Given the description of an element on the screen output the (x, y) to click on. 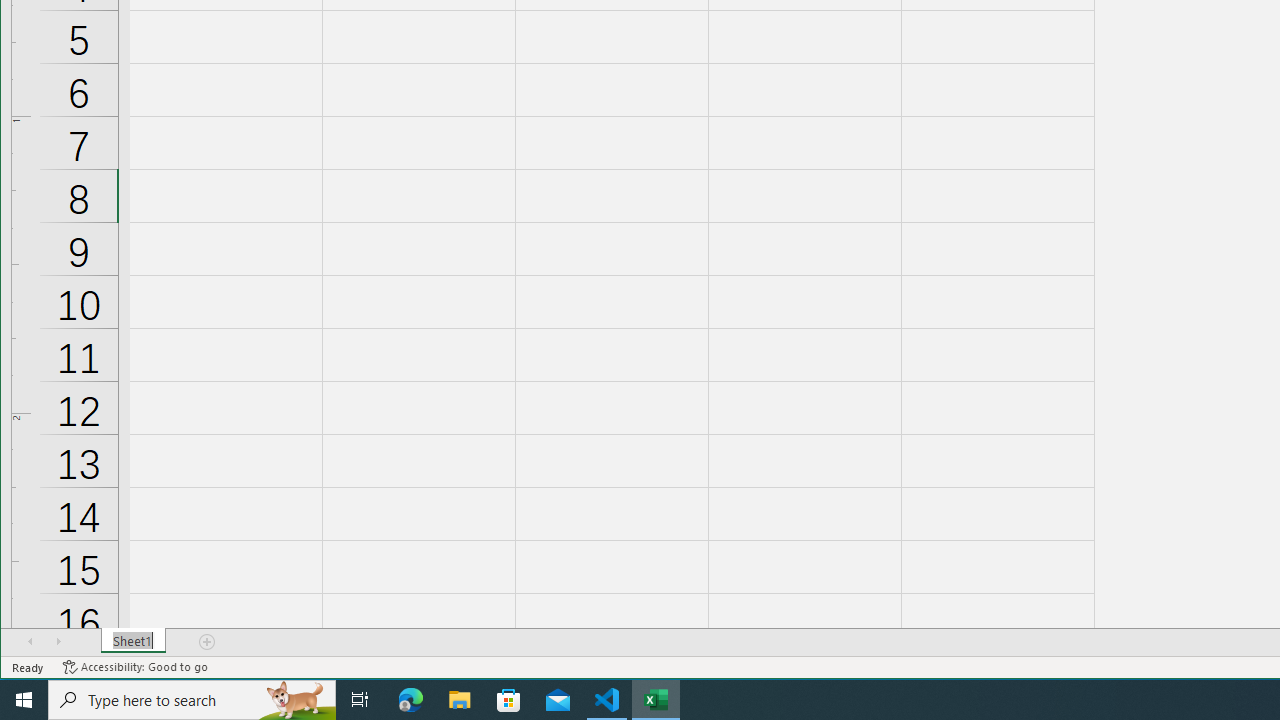
Visual Studio Code - 1 running window (607, 699)
Microsoft Edge (411, 699)
Microsoft Store (509, 699)
Accessibility Checker Accessibility: Good to go (135, 667)
Sheet Tab (133, 641)
Add Sheet (207, 641)
Type here to search (191, 699)
Excel - 1 running window (656, 699)
Sheet1 (133, 641)
Scroll Right (58, 641)
Search highlights icon opens search home window (295, 699)
Task View (359, 699)
Scroll Left (30, 641)
File Explorer (460, 699)
